Given the description of an element on the screen output the (x, y) to click on. 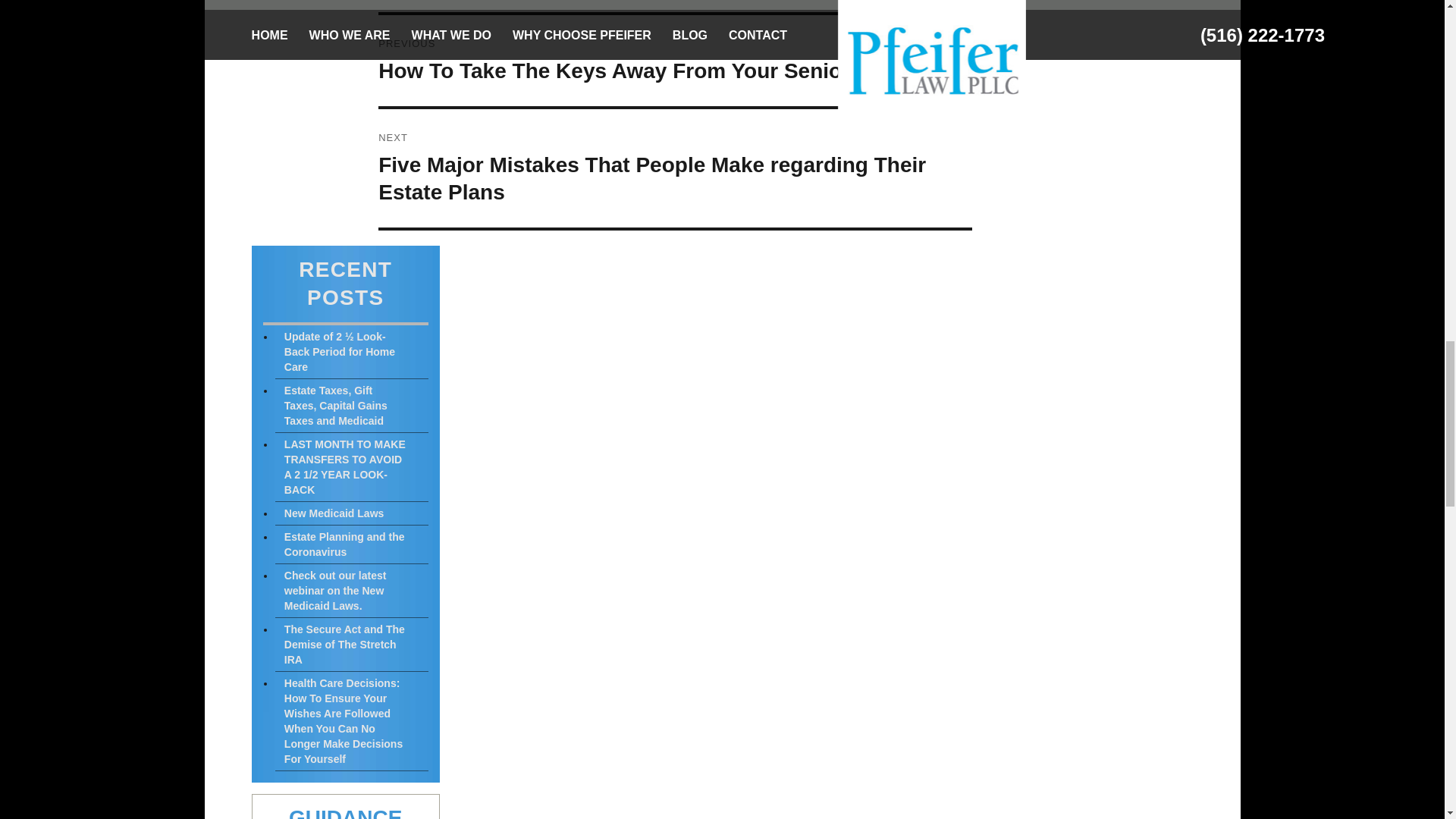
Check out our latest webinar on the New Medicaid Laws. (351, 591)
Estate Taxes, Gift Taxes, Capital Gains Taxes and Medicaid (351, 406)
The Secure Act and The Demise of The Stretch IRA (351, 644)
New Medicaid Laws (351, 513)
Estate Planning and the Coronavirus (351, 544)
